Given the description of an element on the screen output the (x, y) to click on. 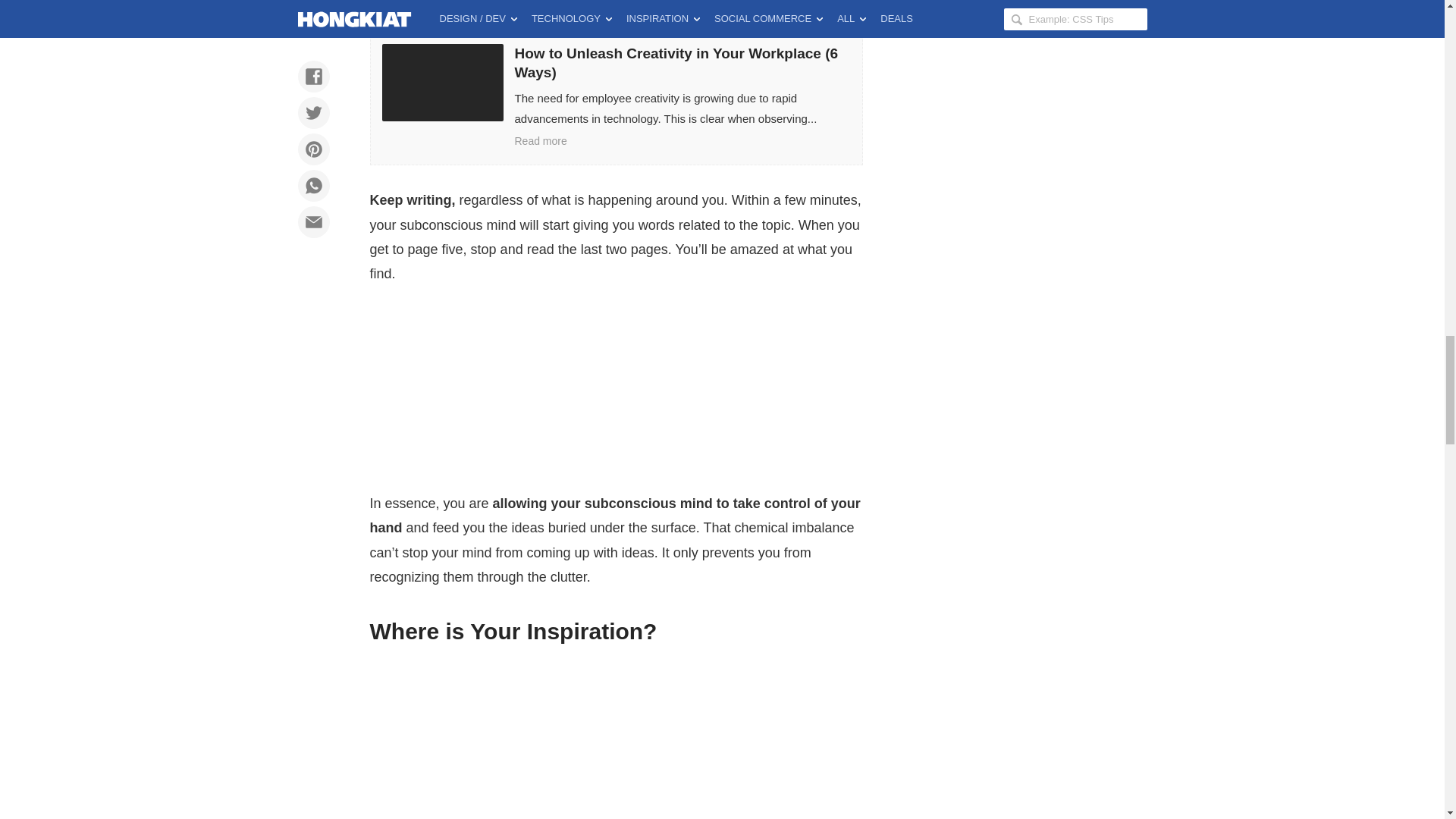
Advertisement (616, 739)
